Given the description of an element on the screen output the (x, y) to click on. 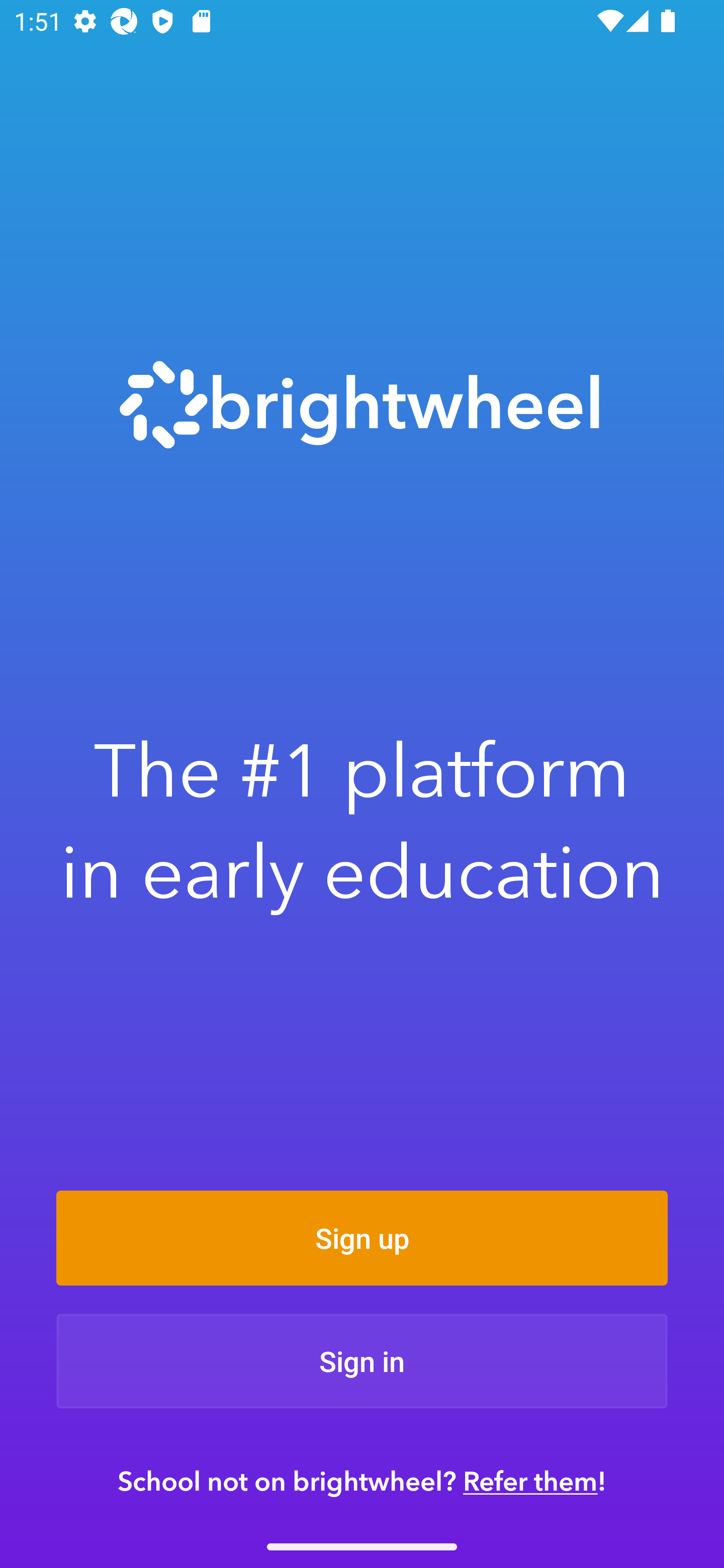
Sign up (361, 1237)
Sign in (361, 1360)
School not on brightwheel? Refer them! (361, 1480)
